Given the description of an element on the screen output the (x, y) to click on. 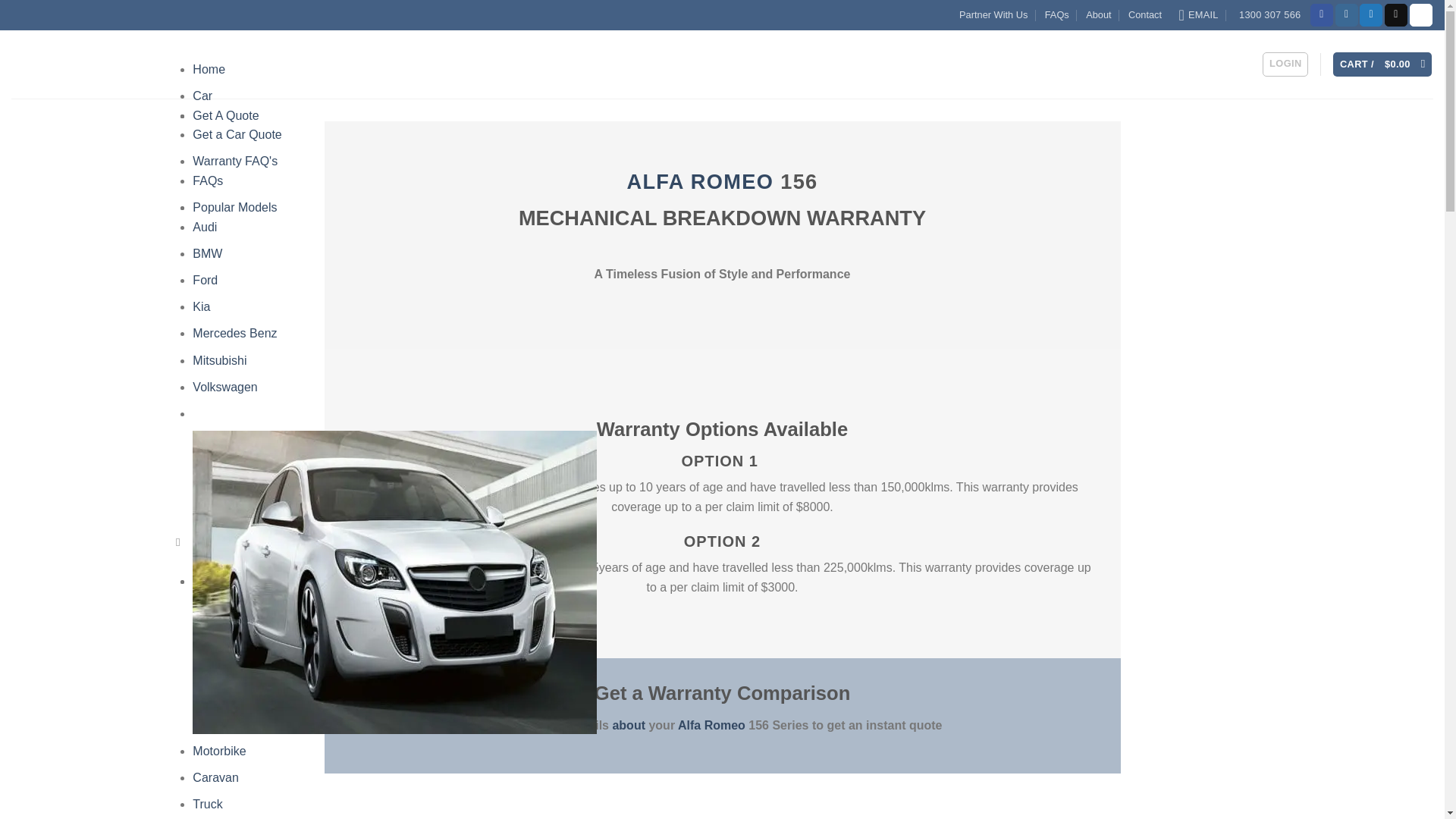
1300 307 566 (1267, 15)
Truck (207, 803)
Home (208, 69)
Audi (204, 226)
Partner With Us (993, 15)
Ford (204, 279)
BMW (207, 253)
Get A Quote (225, 115)
Follow on Twitter (1370, 15)
Motorbike (219, 750)
Volkswagen (224, 386)
Call us (1420, 15)
Get a Car Quote (236, 133)
EMAIL (1197, 14)
FAQs (207, 180)
